Given the description of an element on the screen output the (x, y) to click on. 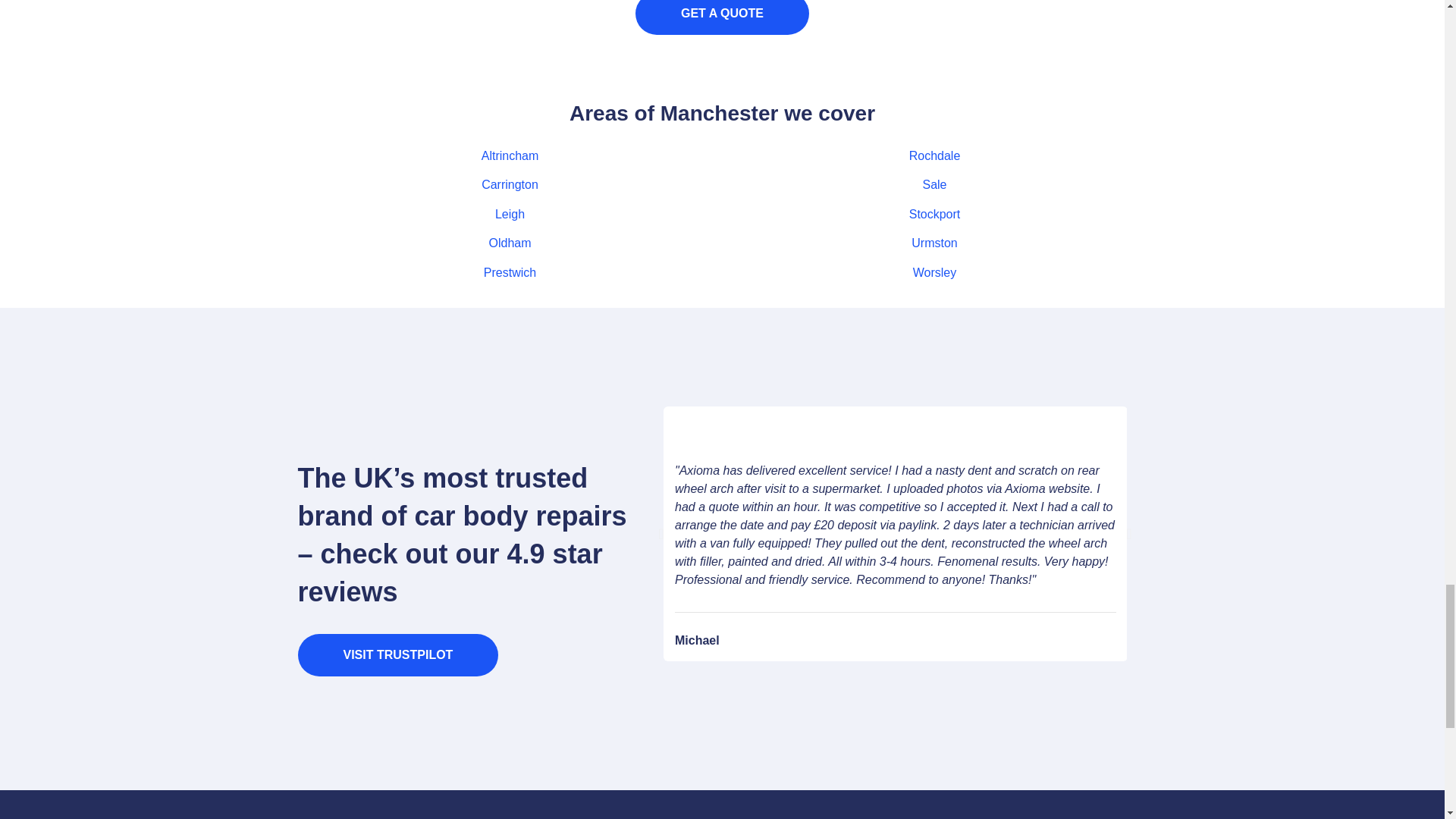
GET A QUOTE (721, 17)
Carrington (509, 184)
VISIT TRUSTPILOT (397, 654)
Oldham (509, 242)
Leigh (509, 214)
Rochdale (934, 155)
Prestwich (509, 272)
Sale (933, 184)
Worsley (934, 272)
Urmston (933, 242)
Altrincham (509, 155)
Stockport (934, 214)
Dots-1-1-1.webp (347, 432)
